Given the description of an element on the screen output the (x, y) to click on. 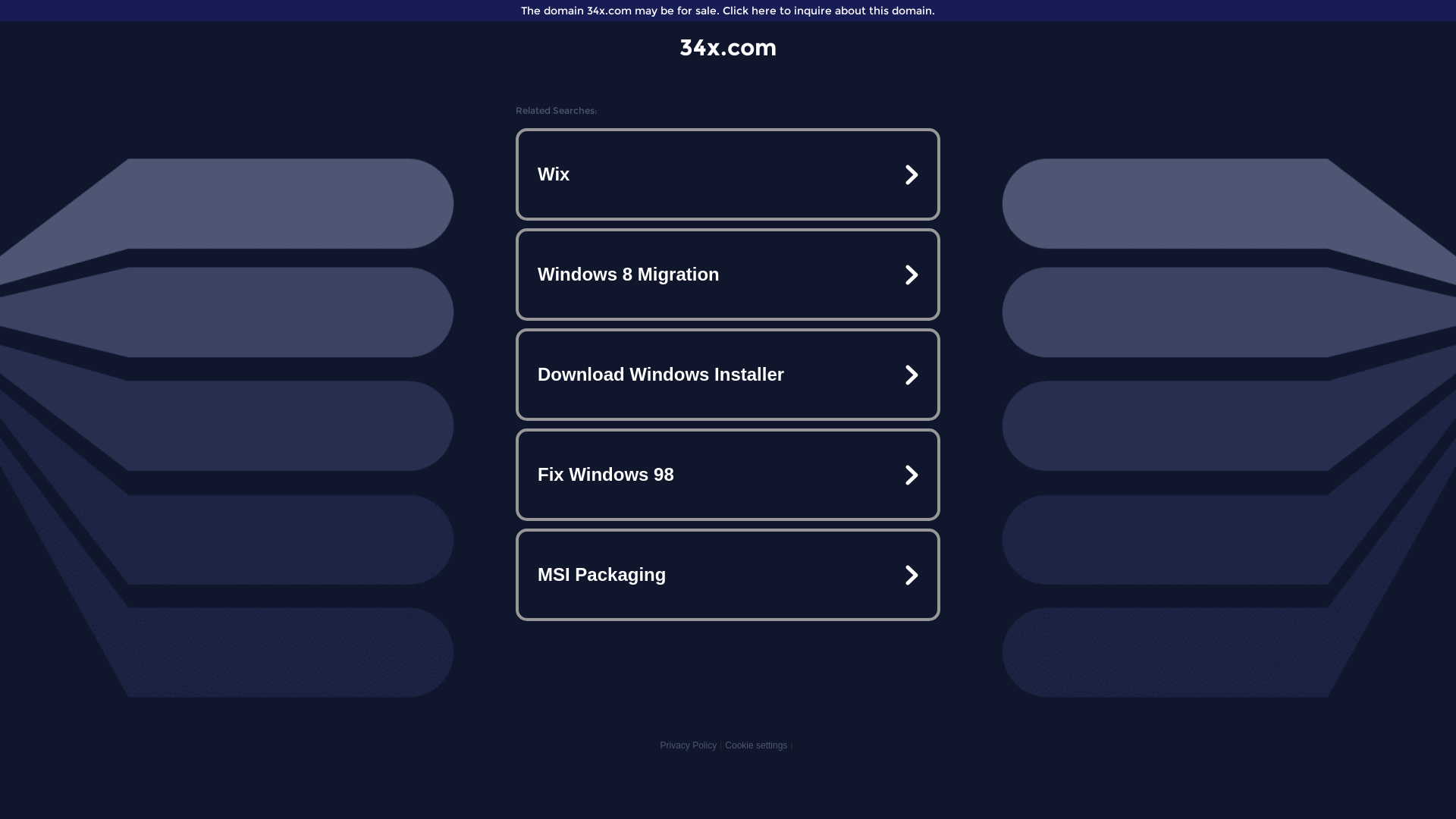
Download Windows Installer Element type: text (727, 374)
MSI Packaging Element type: text (727, 574)
Cookie settings Element type: text (755, 745)
34x.com Element type: text (727, 47)
Windows 8 Migration Element type: text (727, 274)
Fix Windows 98 Element type: text (727, 474)
Privacy Policy Element type: text (687, 745)
Wix Element type: text (727, 174)
